Given the description of an element on the screen output the (x, y) to click on. 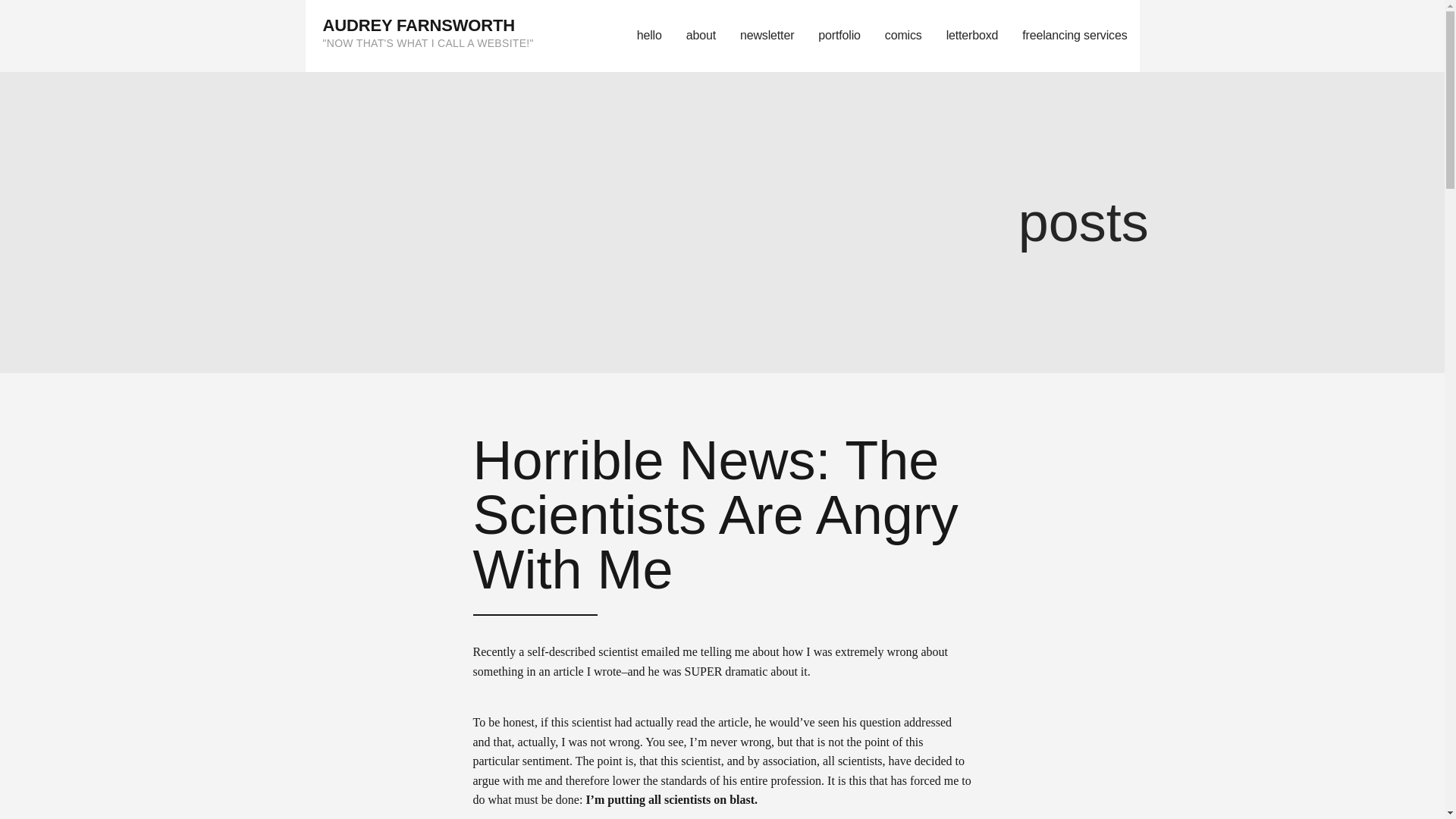
freelancing services (1074, 36)
comics (903, 36)
newsletter (767, 36)
AUDREY FARNSWORTH (419, 25)
hello (649, 36)
portfolio (839, 36)
letterboxd (972, 36)
about (701, 36)
